Given the description of an element on the screen output the (x, y) to click on. 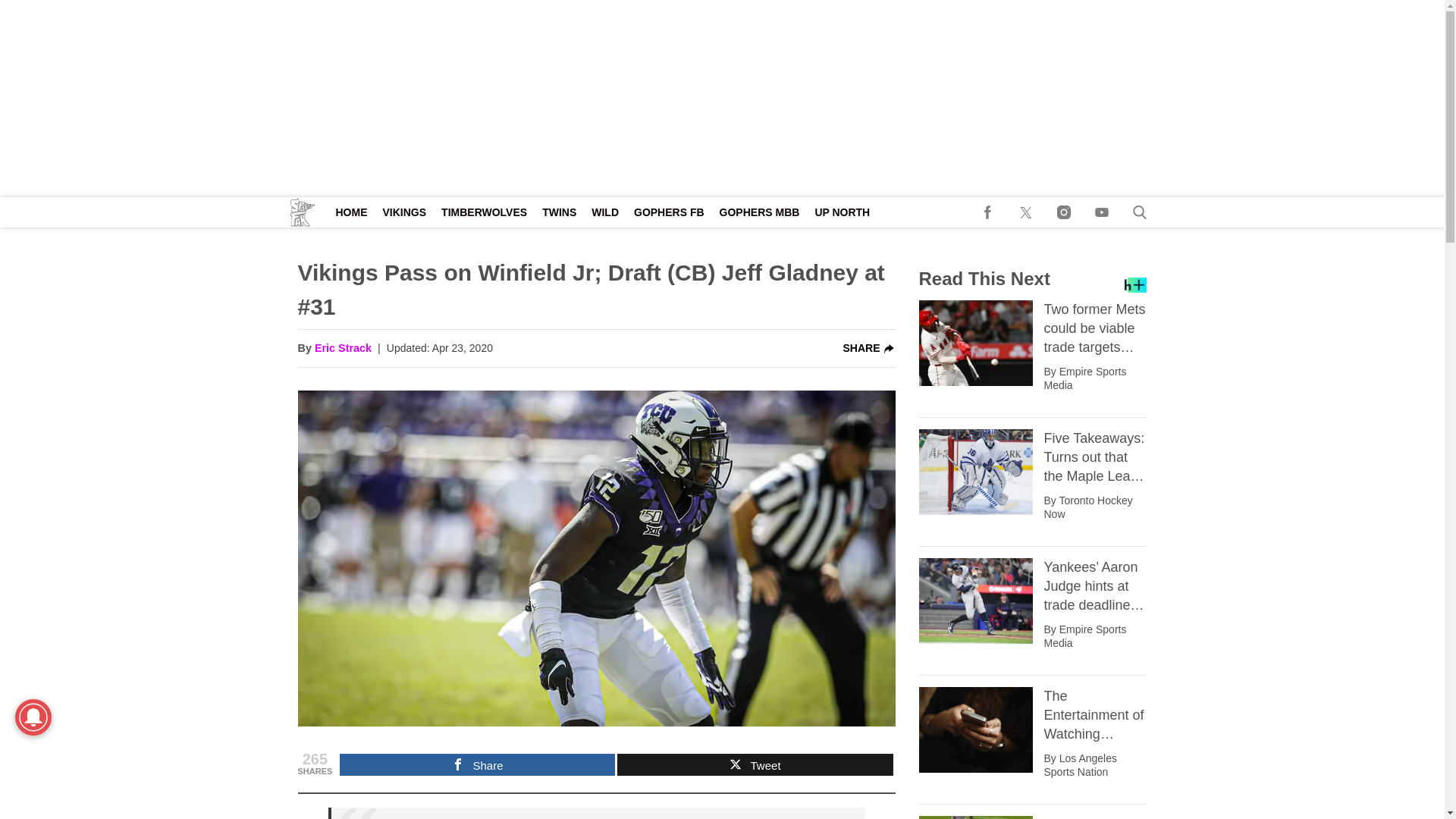
UP NORTH (841, 212)
TWINS (558, 212)
GOPHERS MBB (759, 212)
HOME (350, 212)
Share (476, 764)
Subscribe to our YouTube channel (1102, 212)
WILD (604, 212)
Tweet (754, 764)
Eric Strack (342, 348)
GOPHERS FB (668, 212)
TIMBERWOLVES (483, 212)
Follow us on Facebook (988, 212)
Follow us on Instagram (1064, 212)
Posts by Eric Strack (342, 348)
Follow us on Twitter (1026, 212)
